Given the description of an element on the screen output the (x, y) to click on. 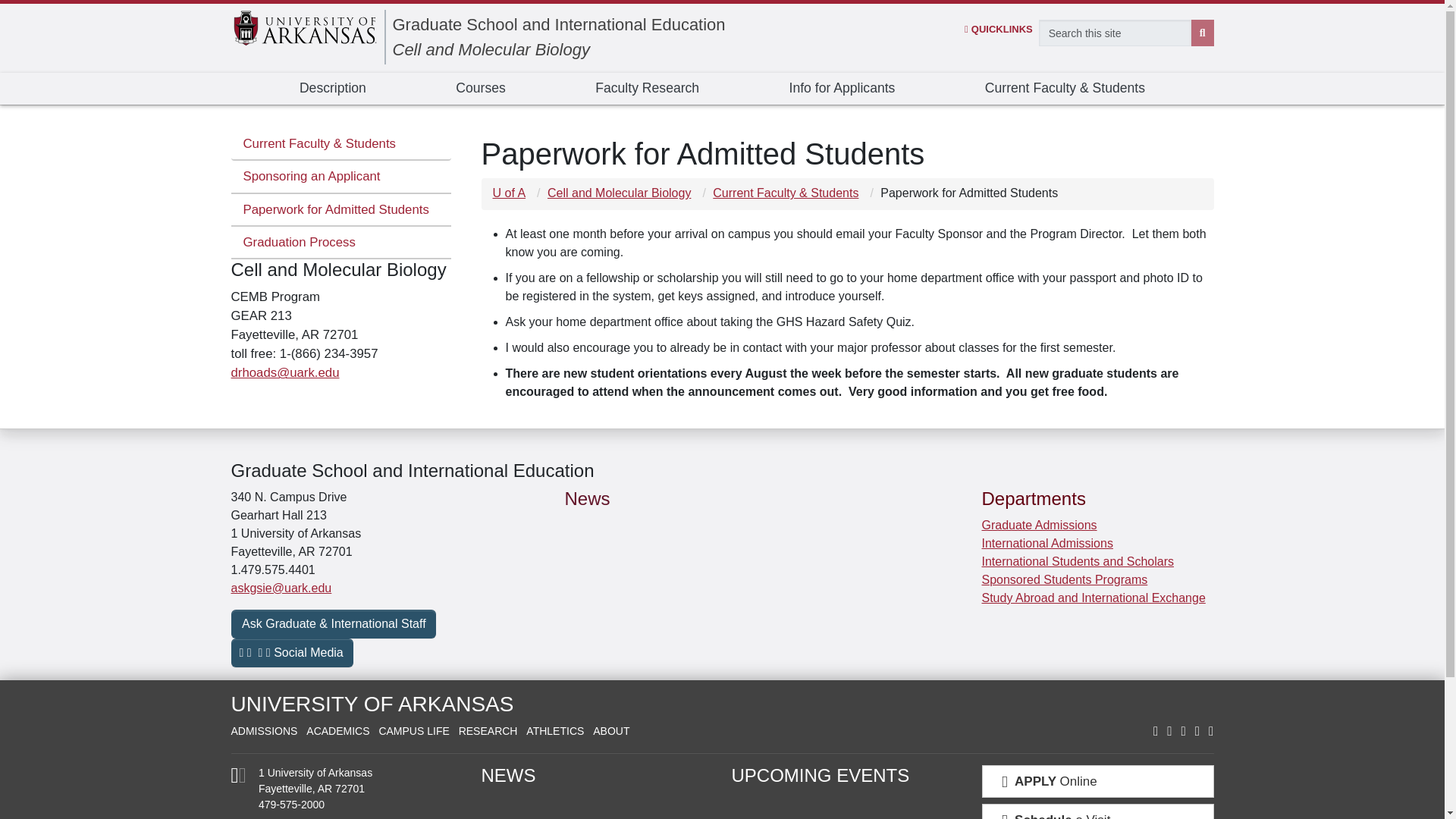
Graduation Process (339, 242)
About the University of Arkansas (610, 730)
QUICKLINKS (997, 29)
University of Arkansas Research (488, 730)
Cell and Molecular Biology (491, 49)
University of Arkansas Academics (337, 730)
Cell and Molecular Biology (491, 49)
View Campus Maps (238, 778)
Campus Life at the University of Arkansas (413, 730)
Sponsoring an Applicant (339, 176)
